Given the description of an element on the screen output the (x, y) to click on. 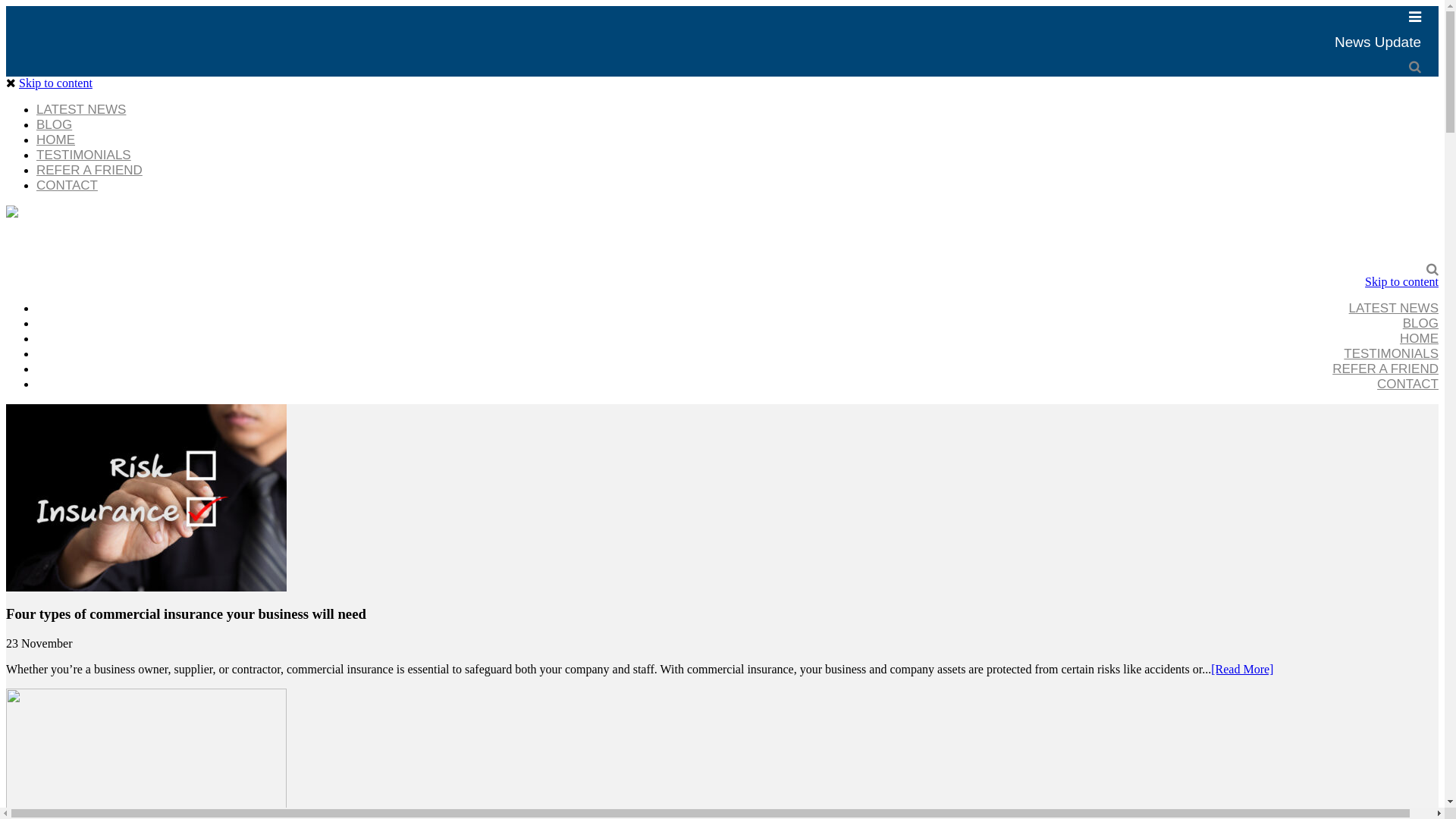
HOME Element type: text (1418, 338)
LATEST NEWS Element type: text (80, 109)
REFER A FRIEND Element type: text (89, 170)
CONTACT Element type: text (1407, 383)
LATEST NEWS Element type: text (1393, 308)
CONTACT Element type: text (66, 185)
DMA News Element type: hover (12, 213)
[Read More] Element type: text (1242, 668)
TESTIMONIALS Element type: text (1390, 353)
REFER A FRIEND Element type: text (1385, 368)
HOME Element type: text (55, 139)
Skip to content Element type: text (1401, 281)
TESTIMONIALS Element type: text (83, 154)
Skip to content Element type: text (55, 82)
BLOG Element type: text (54, 124)
BLOG Element type: text (1420, 323)
